Given the description of an element on the screen output the (x, y) to click on. 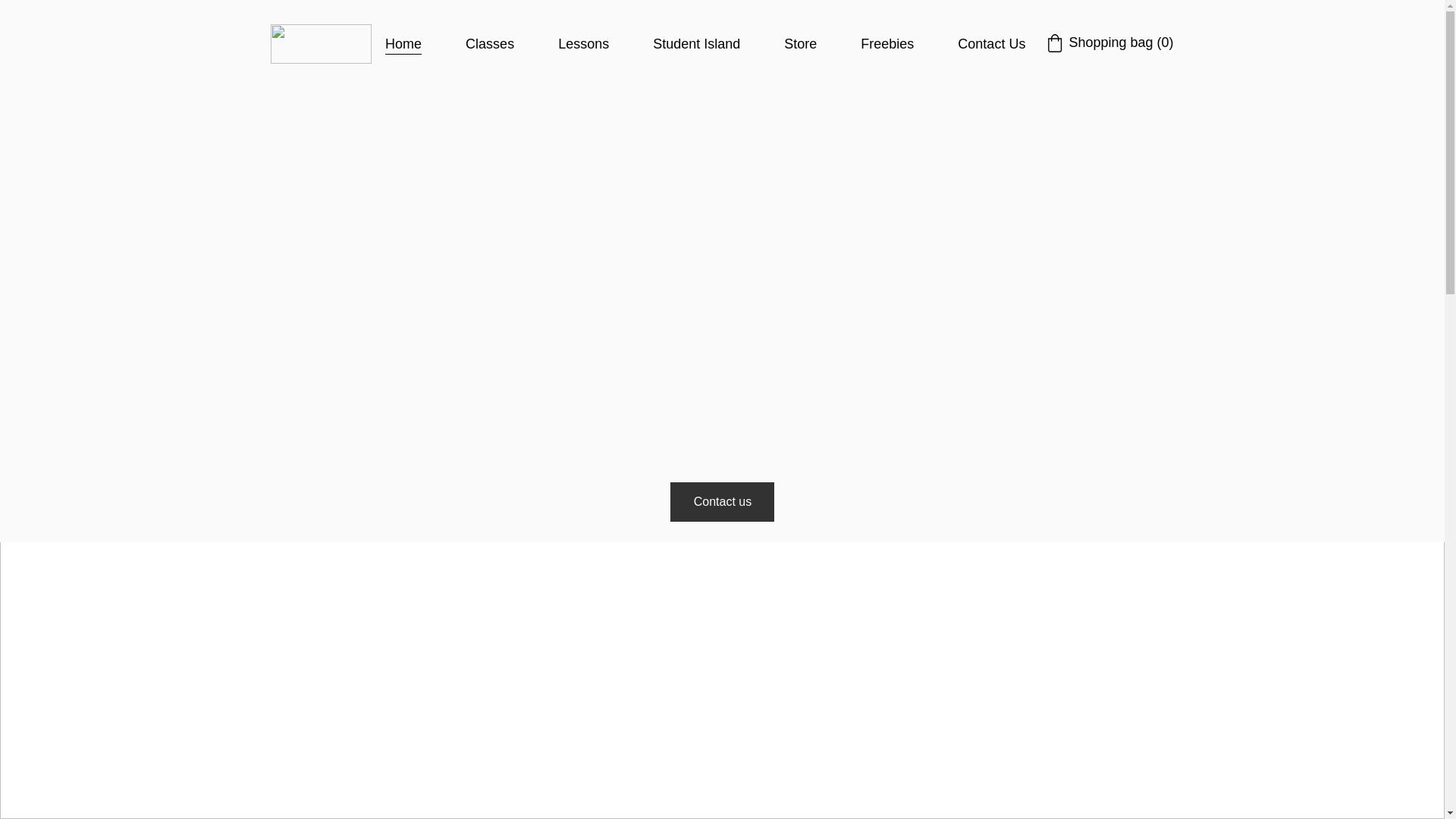
Home (403, 43)
Store (800, 43)
Contact us (721, 501)
Student Island (695, 43)
Lessons (582, 43)
Contact Us (991, 43)
Go to cart (1109, 43)
Freebies (887, 43)
Classes (489, 43)
